Given the description of an element on the screen output the (x, y) to click on. 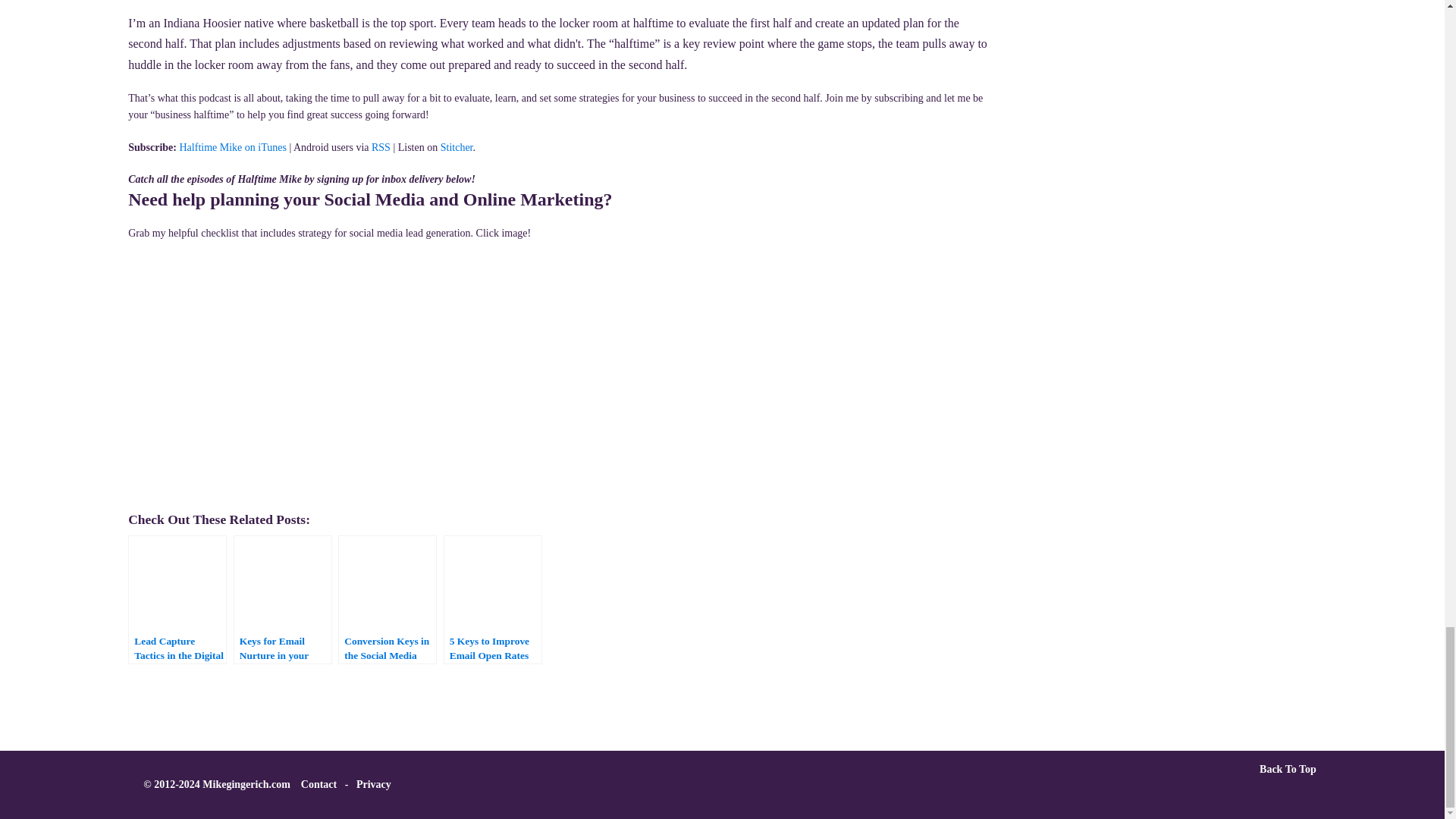
Podcast RSS feed (380, 147)
Mike Gingerich Halftime Mike Podcast on iTunes (232, 147)
